Given the description of an element on the screen output the (x, y) to click on. 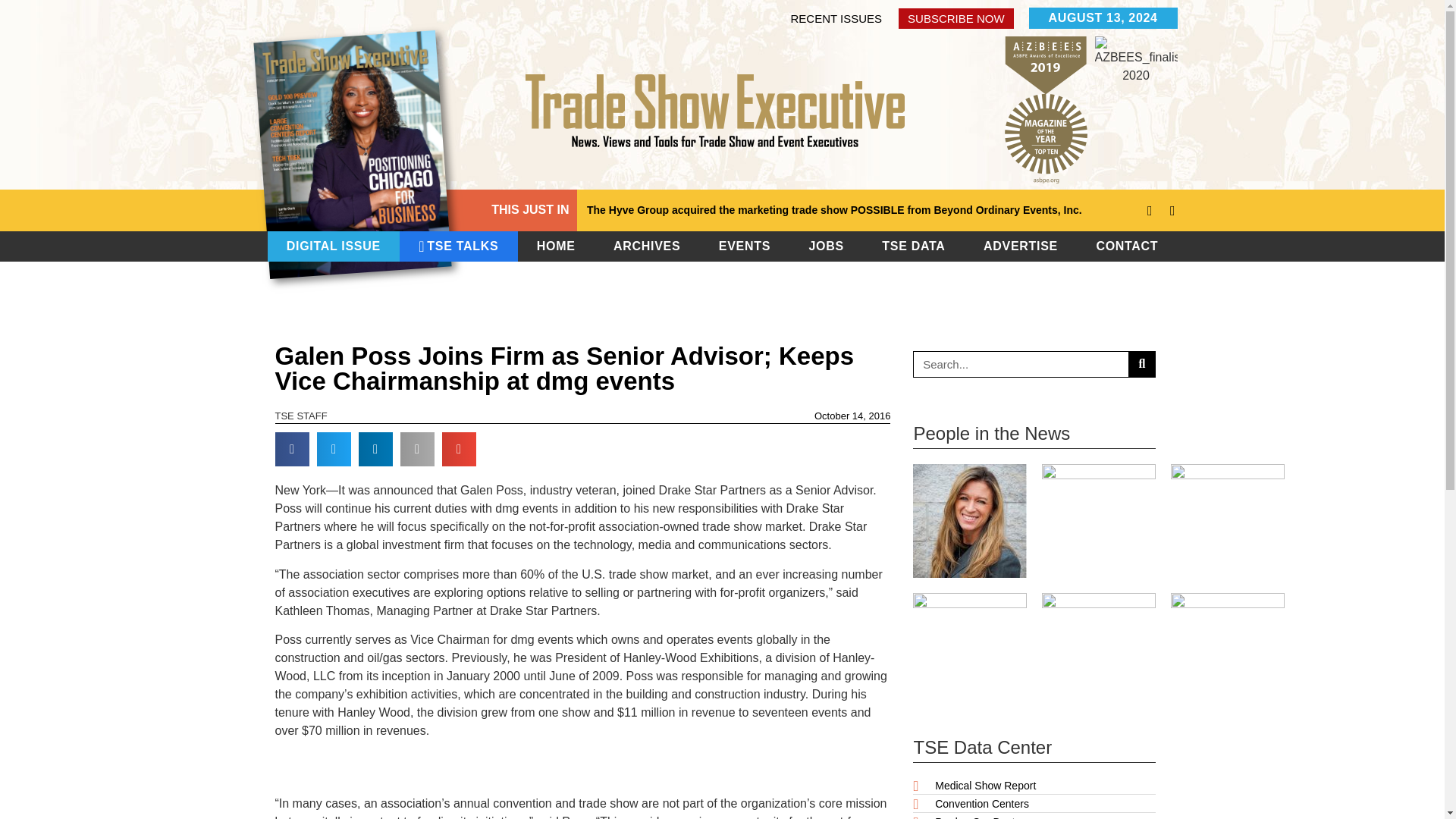
RECENT ISSUES (835, 17)
DIGITAL ISSUE (333, 246)
TSE TALKS (459, 246)
ADVERTISE (1020, 246)
EVENTS (745, 246)
HOME (555, 246)
SUBSCRIBE NOW (955, 17)
ARCHIVES (647, 246)
JOBS (826, 246)
